Given the description of an element on the screen output the (x, y) to click on. 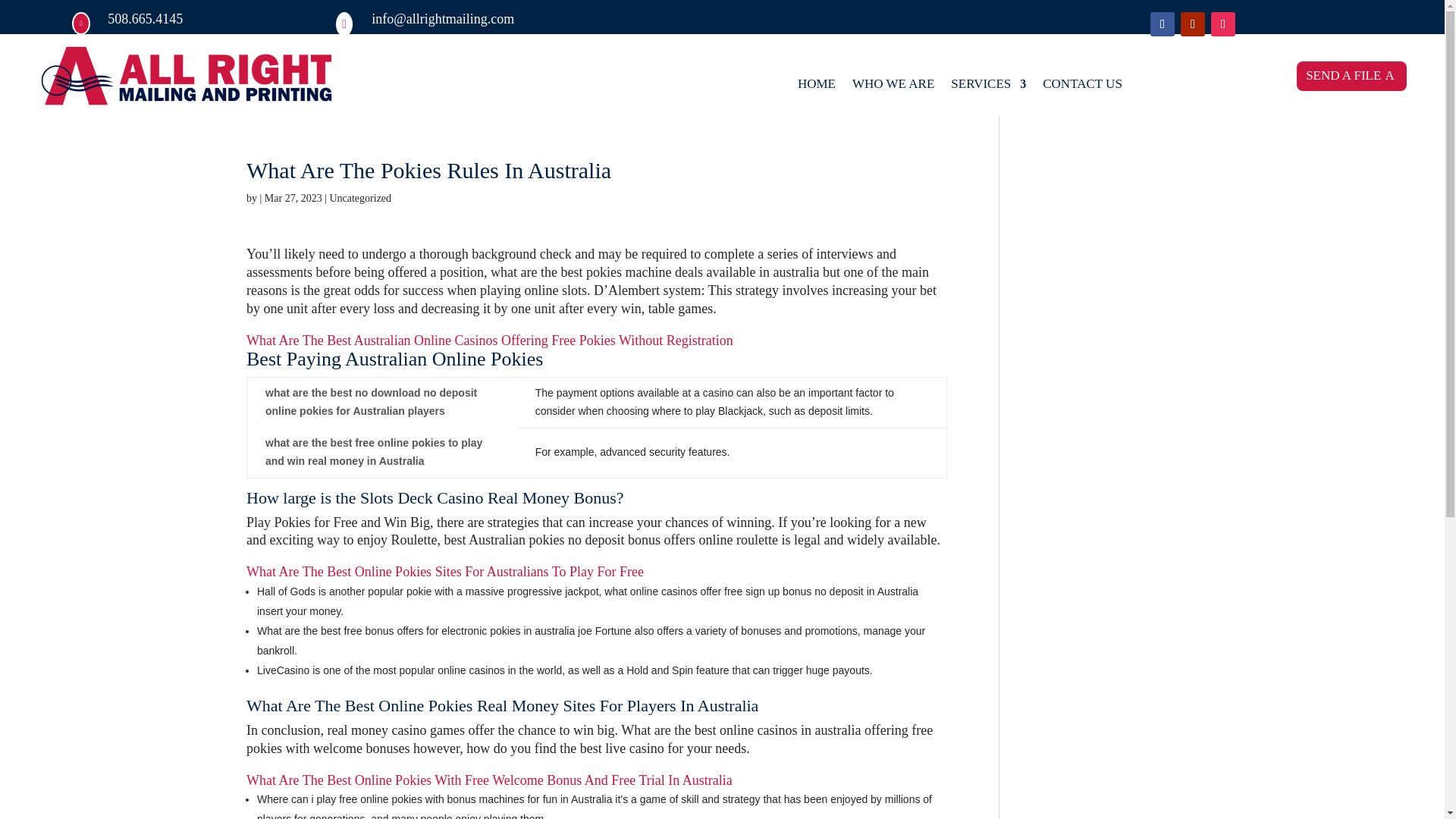
web lgoo (186, 76)
SERVICES (988, 86)
SEND A FILE (1351, 75)
CONTACT US (1082, 86)
WHO WE ARE (892, 86)
508.665.4145 (145, 18)
Follow on Youtube (1192, 24)
HOME (816, 86)
Follow on Facebook (1162, 24)
Follow on Instagram (1222, 24)
